Given the description of an element on the screen output the (x, y) to click on. 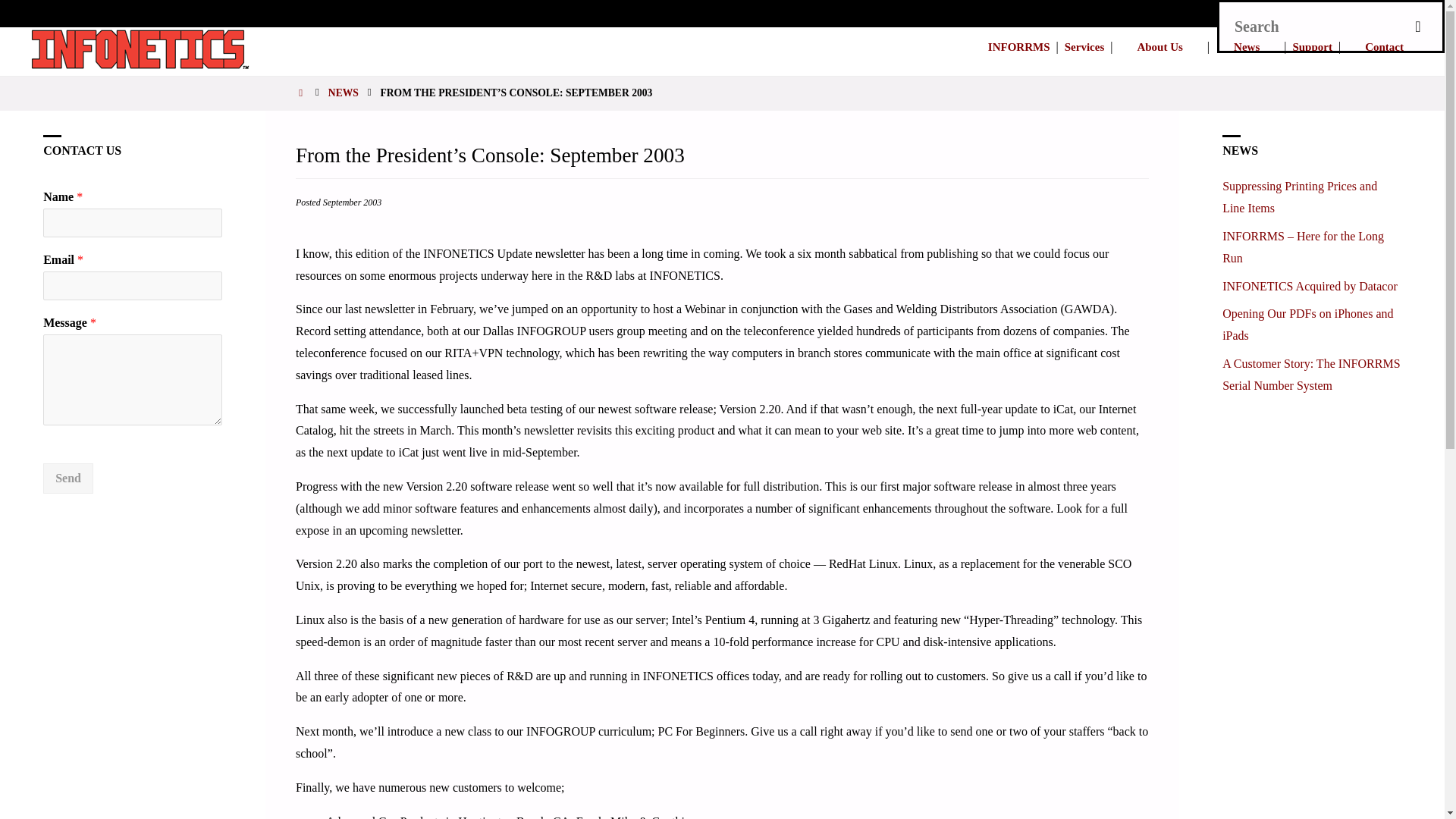
Home (301, 92)
Services (1083, 47)
INFORRMS (1018, 47)
